Given the description of an element on the screen output the (x, y) to click on. 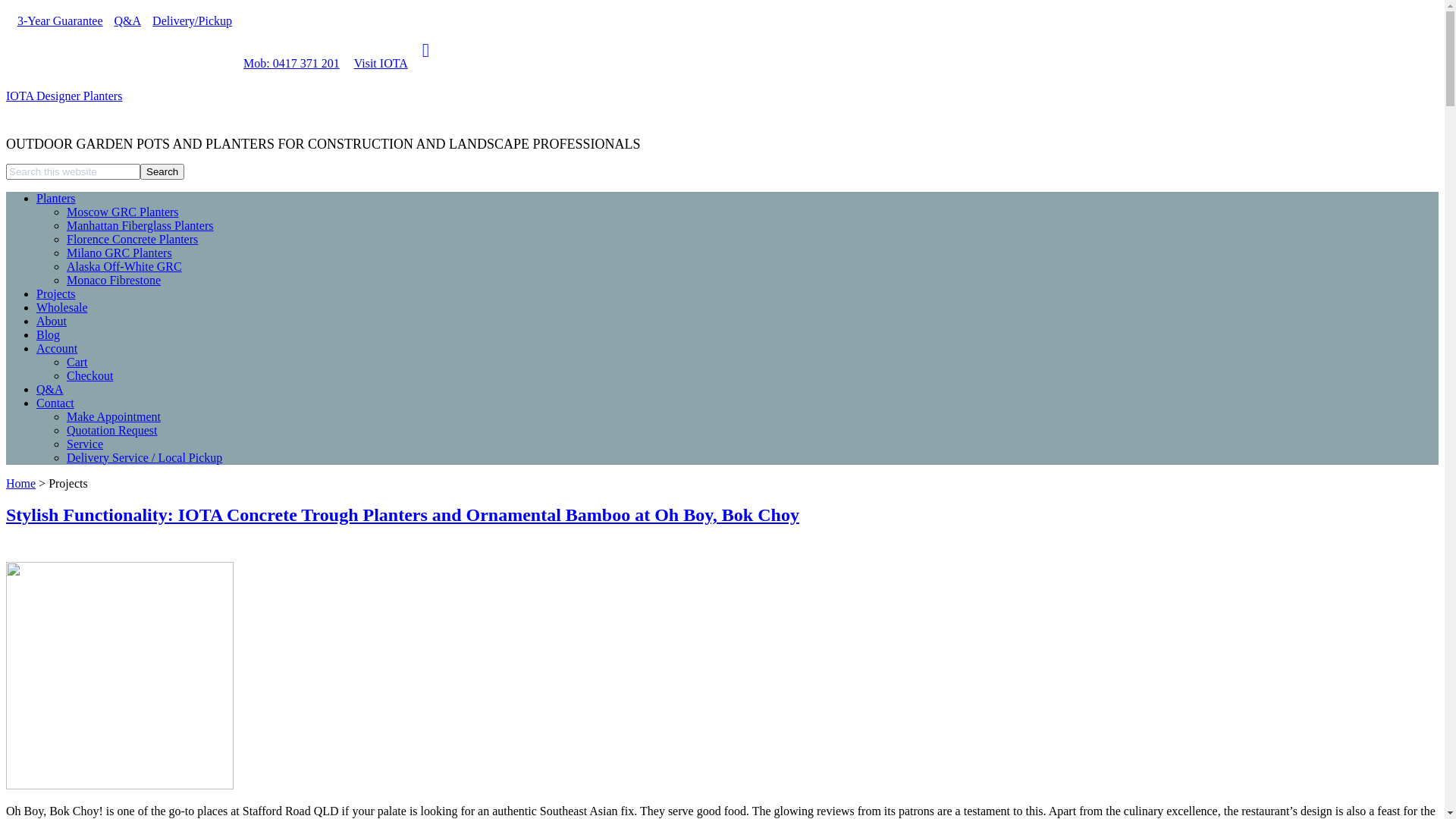
Service Element type: text (84, 443)
Milano GRC Planters Element type: text (119, 252)
Florence Concrete Planters Element type: text (131, 238)
Cart Element type: text (76, 361)
Q&A Element type: text (122, 21)
Monaco Fibrestone Element type: text (113, 279)
Home Element type: text (20, 482)
Checkout Element type: text (89, 375)
Manhattan Fiberglass Planters Element type: text (139, 225)
Contact Element type: text (55, 402)
About Element type: text (51, 320)
3-Year Guarantee Element type: text (54, 21)
Projects Element type: text (55, 293)
Wholesale Element type: text (61, 307)
IOTA Designer Planters Element type: text (64, 95)
Account Element type: text (56, 348)
Alaska Off-White GRC Element type: text (124, 266)
Moscow GRC Planters Element type: text (122, 211)
Search Element type: text (162, 171)
Quotation Request Element type: text (111, 429)
Planters Element type: text (55, 197)
Delivery Service / Local Pickup Element type: text (144, 457)
Q&A Element type: text (49, 388)
Delivery/Pickup Element type: text (186, 21)
Visit IOTA Element type: text (374, 63)
Blog Element type: text (47, 334)
Make Appointment Element type: text (113, 416)
Mob: 0417 371 201 Element type: text (285, 63)
